Given the description of an element on the screen output the (x, y) to click on. 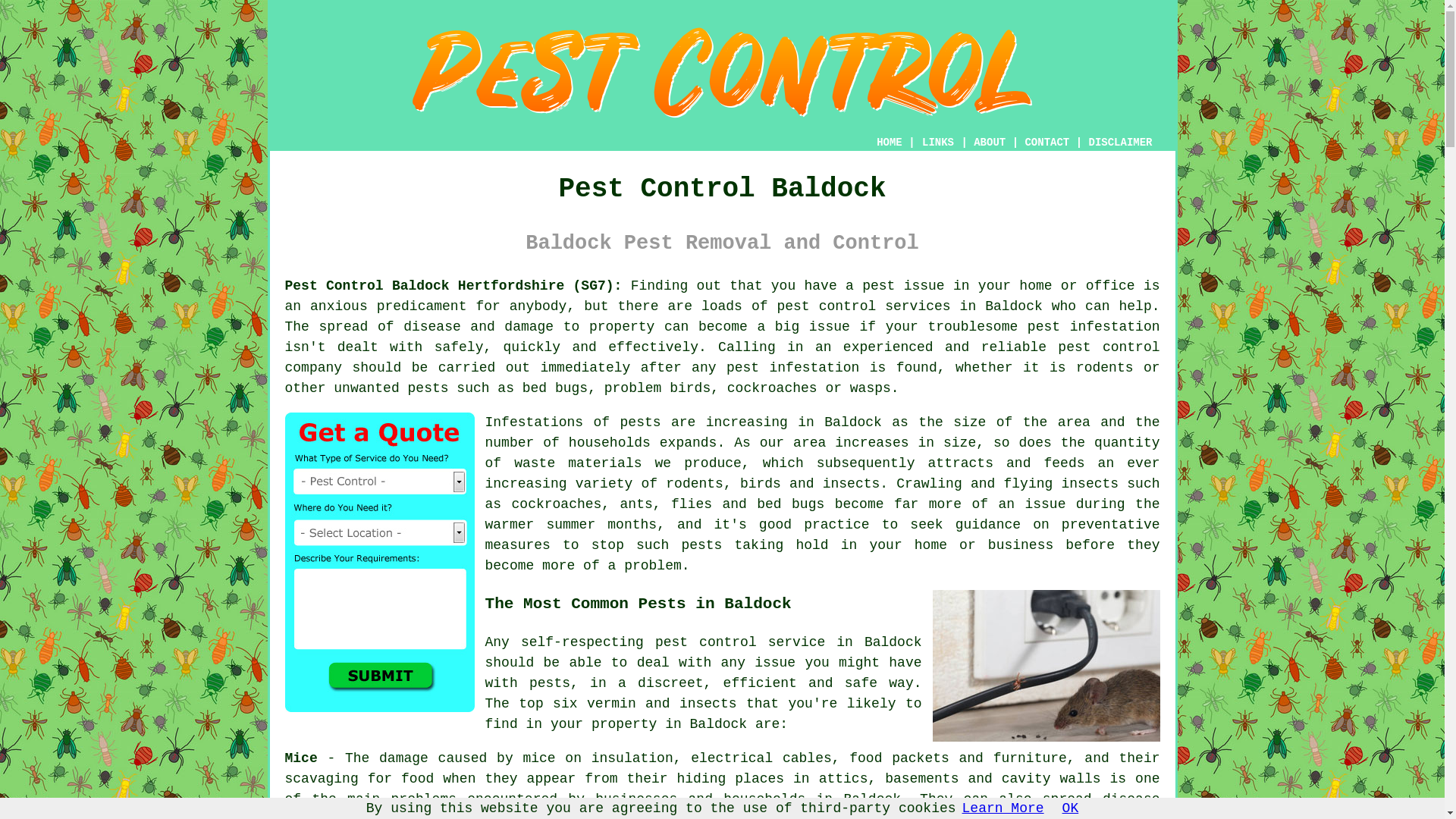
HOME (889, 142)
Pest Control Baldock (721, 72)
pest control (826, 305)
pests (640, 421)
LINKS (938, 142)
